Given the description of an element on the screen output the (x, y) to click on. 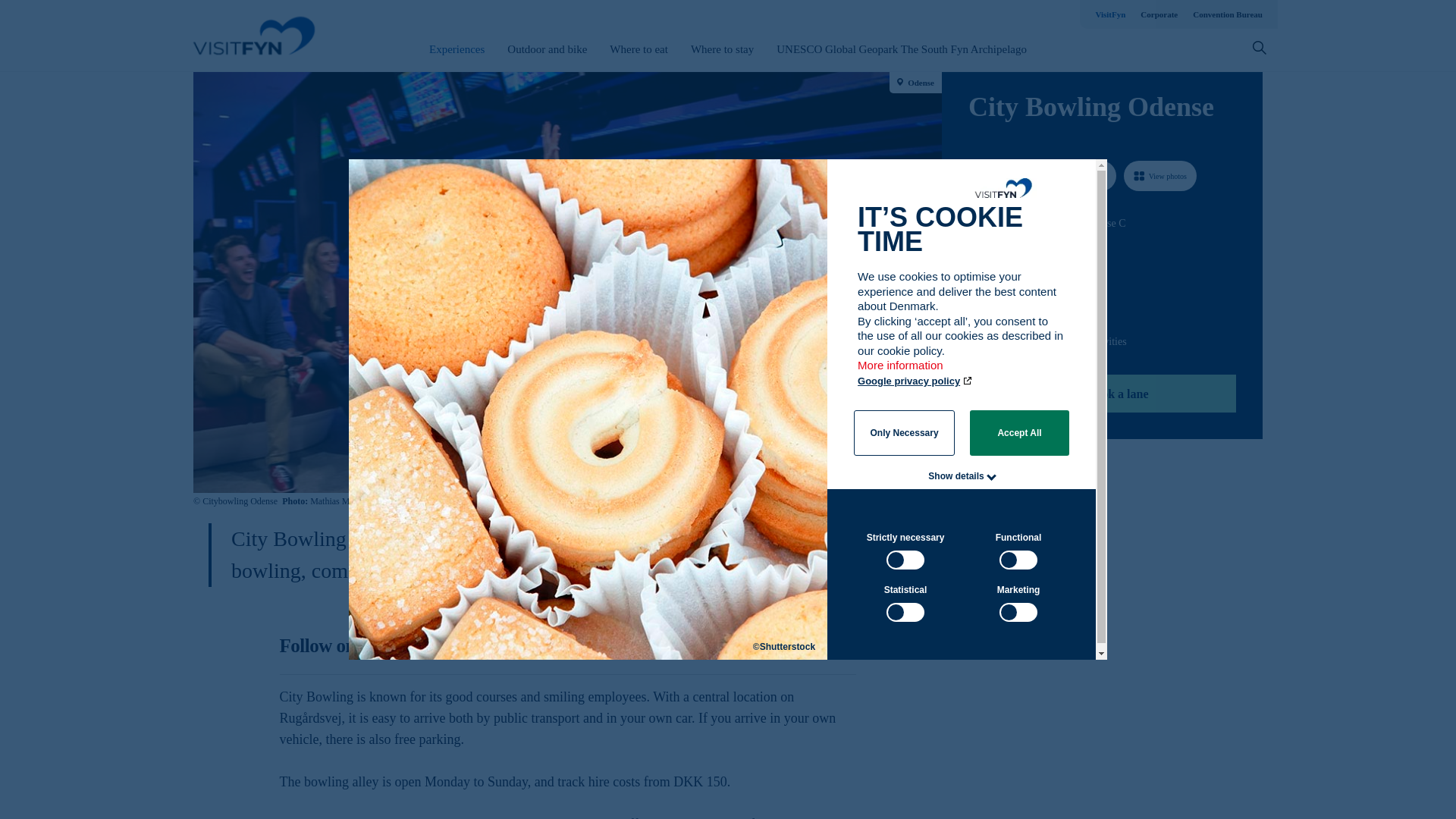
More information (900, 372)
Accept All (1018, 432)
Path (973, 250)
Google privacy policy (915, 380)
Path (973, 310)
Only Necessary (904, 432)
Show details (956, 475)
